Given the description of an element on the screen output the (x, y) to click on. 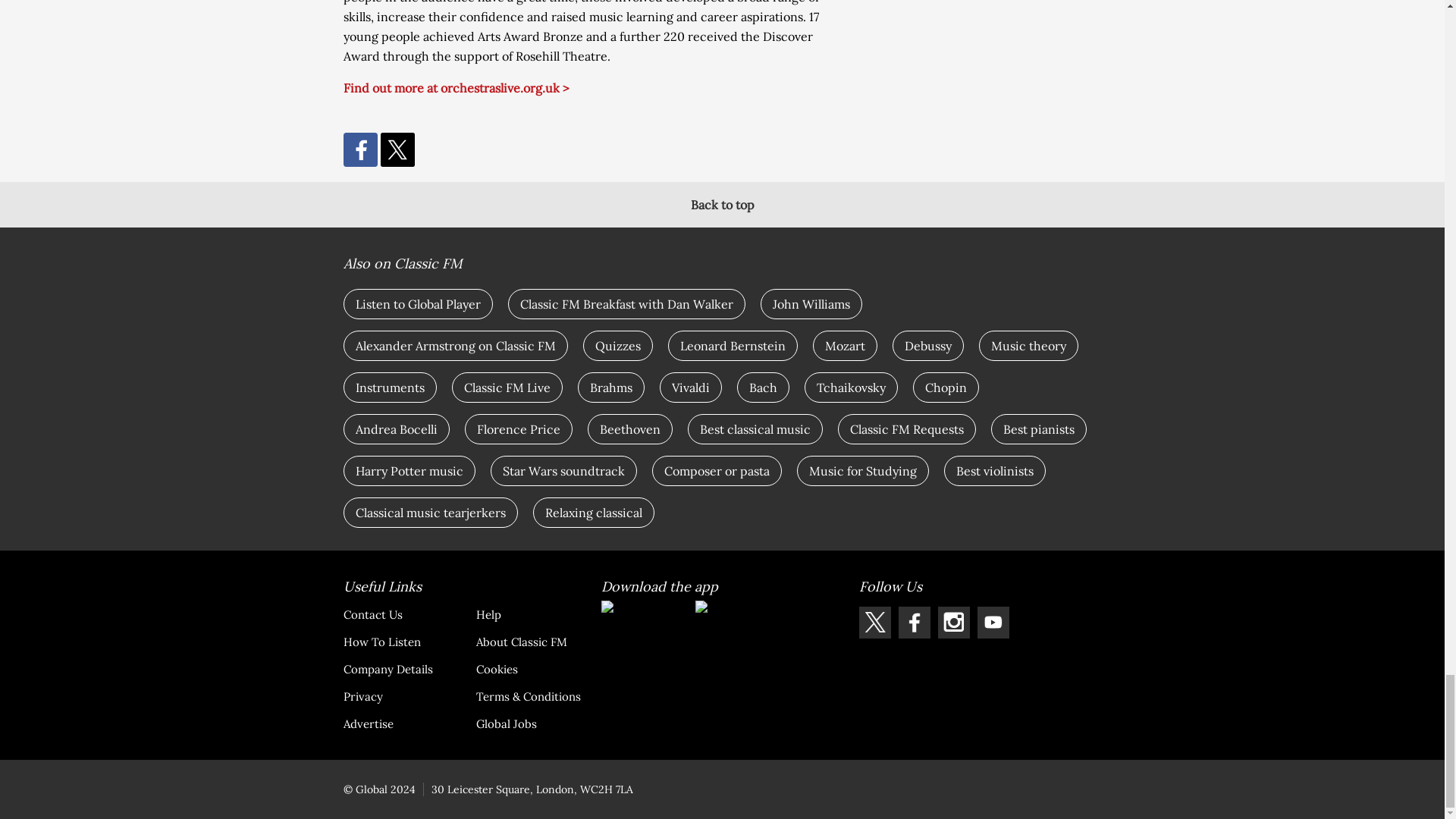
Back to top (722, 204)
Follow Classic FM on Youtube (992, 622)
Follow Classic FM on Instagram (953, 622)
Follow Classic FM on X (874, 622)
Follow Classic FM on Facebook (914, 622)
